Given the description of an element on the screen output the (x, y) to click on. 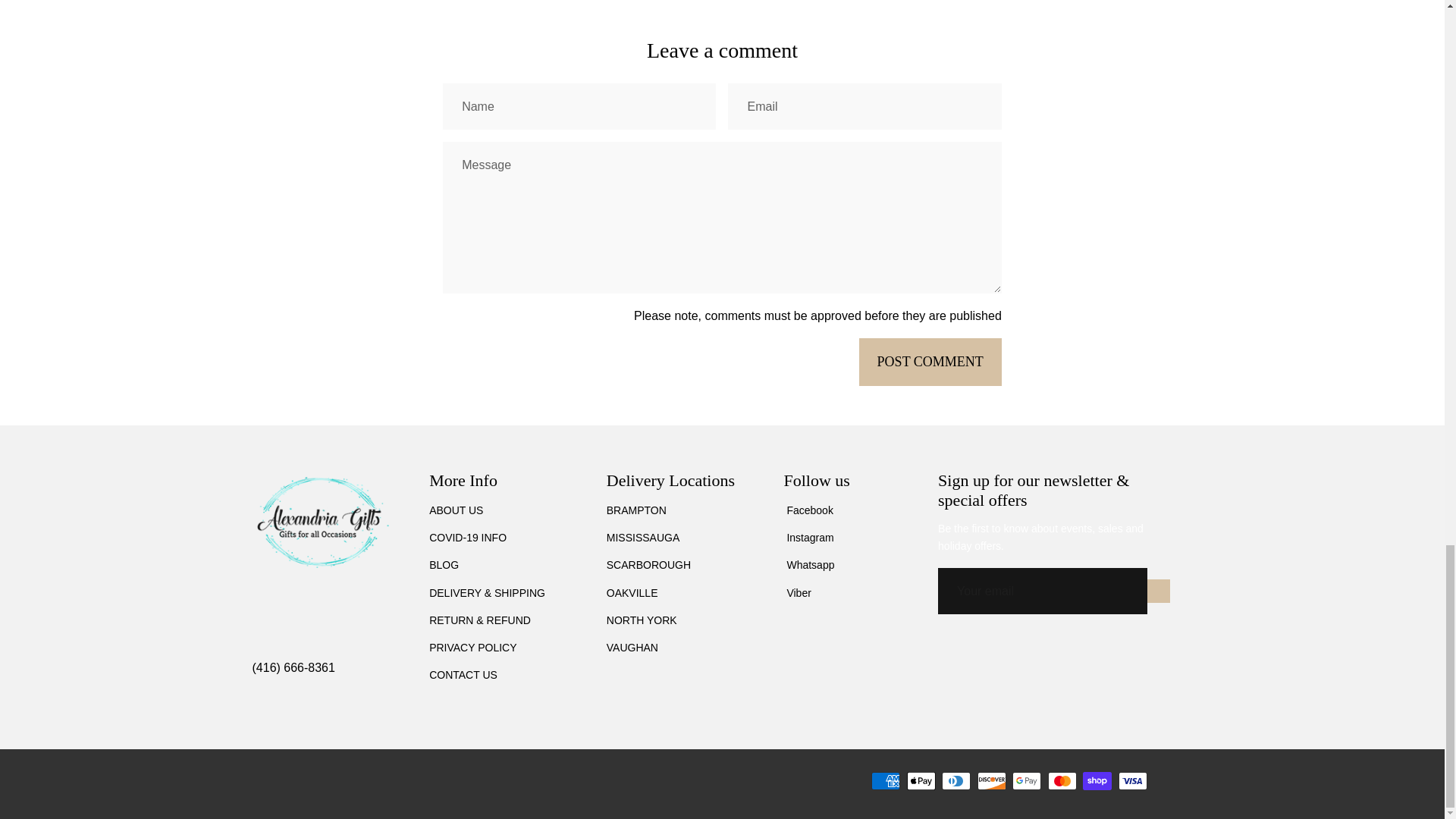
Alexandria Gifts on Viber (796, 593)
Alexandria Gifts on Instagram (807, 537)
Shop Pay (1097, 781)
American Express (884, 781)
Apple Pay (921, 781)
Mastercard (1062, 781)
Alexandria Gifts on Whatsapp (808, 565)
Diners Club (956, 781)
Alexandria Gifts on Facebook (807, 510)
Visa (1132, 781)
